Given the description of an element on the screen output the (x, y) to click on. 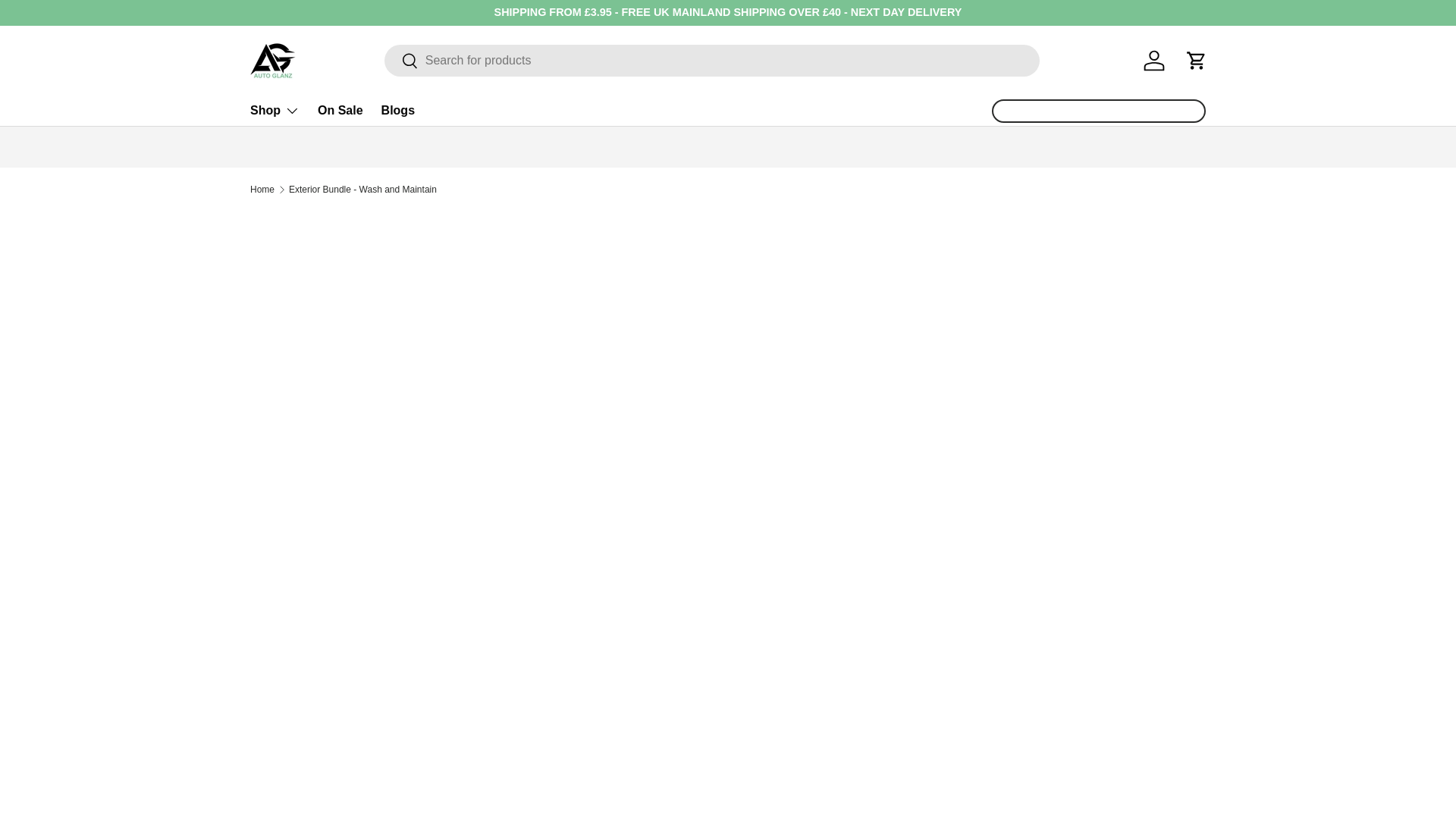
Shop (274, 110)
Log in (1153, 60)
Skip to content (69, 21)
Cart (1195, 60)
Search (401, 61)
